Given the description of an element on the screen output the (x, y) to click on. 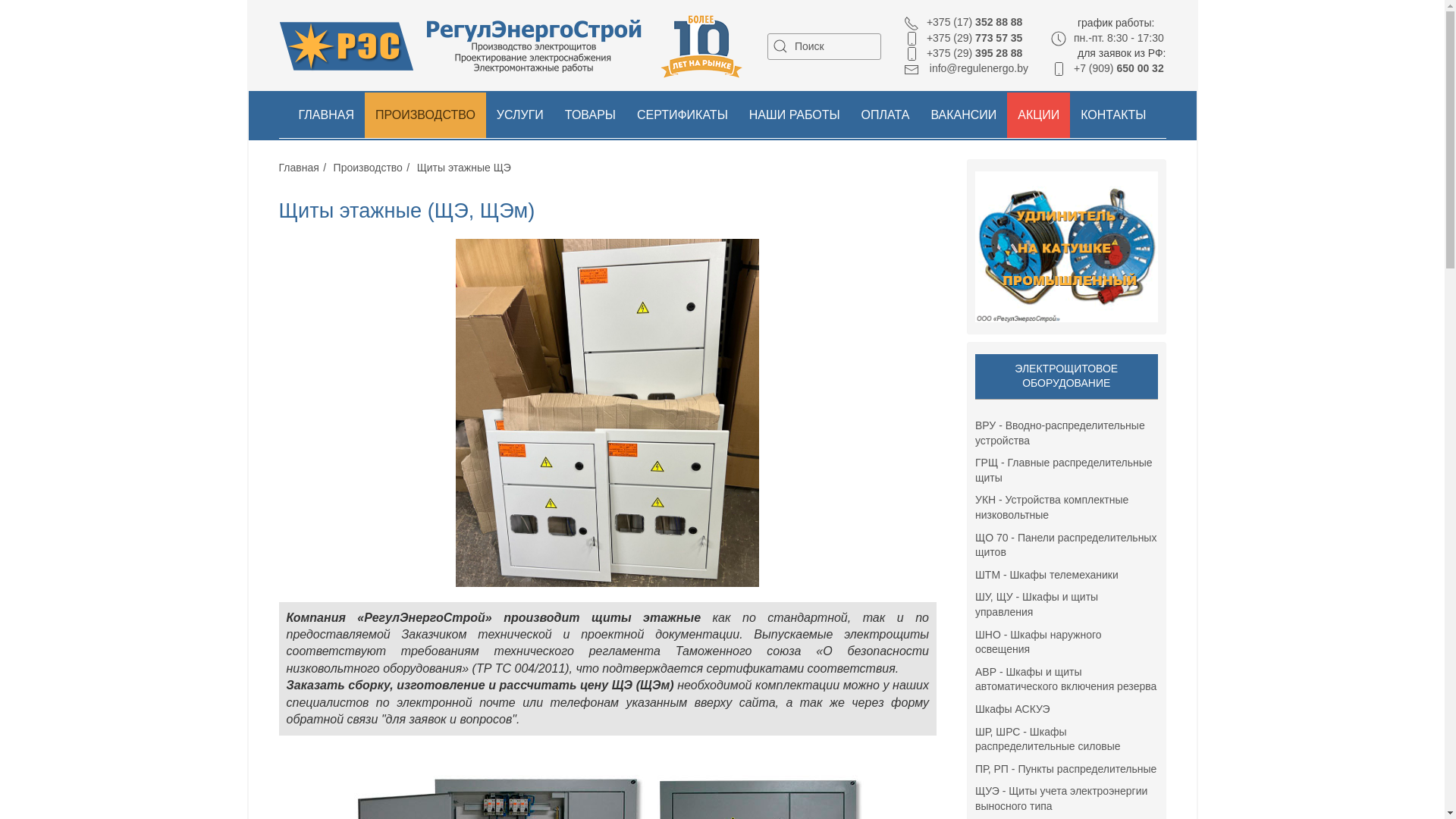
+375 (29) 395 28 88 Element type: text (962, 53)
+7 (909) 650 00 32 Element type: text (1107, 68)
info@regulenergo.by Element type: text (965, 68)
+375 (17) 352 88 88 Element type: text (962, 21)
+375 (29) 773 57 35 Element type: text (962, 37)
